Given the description of an element on the screen output the (x, y) to click on. 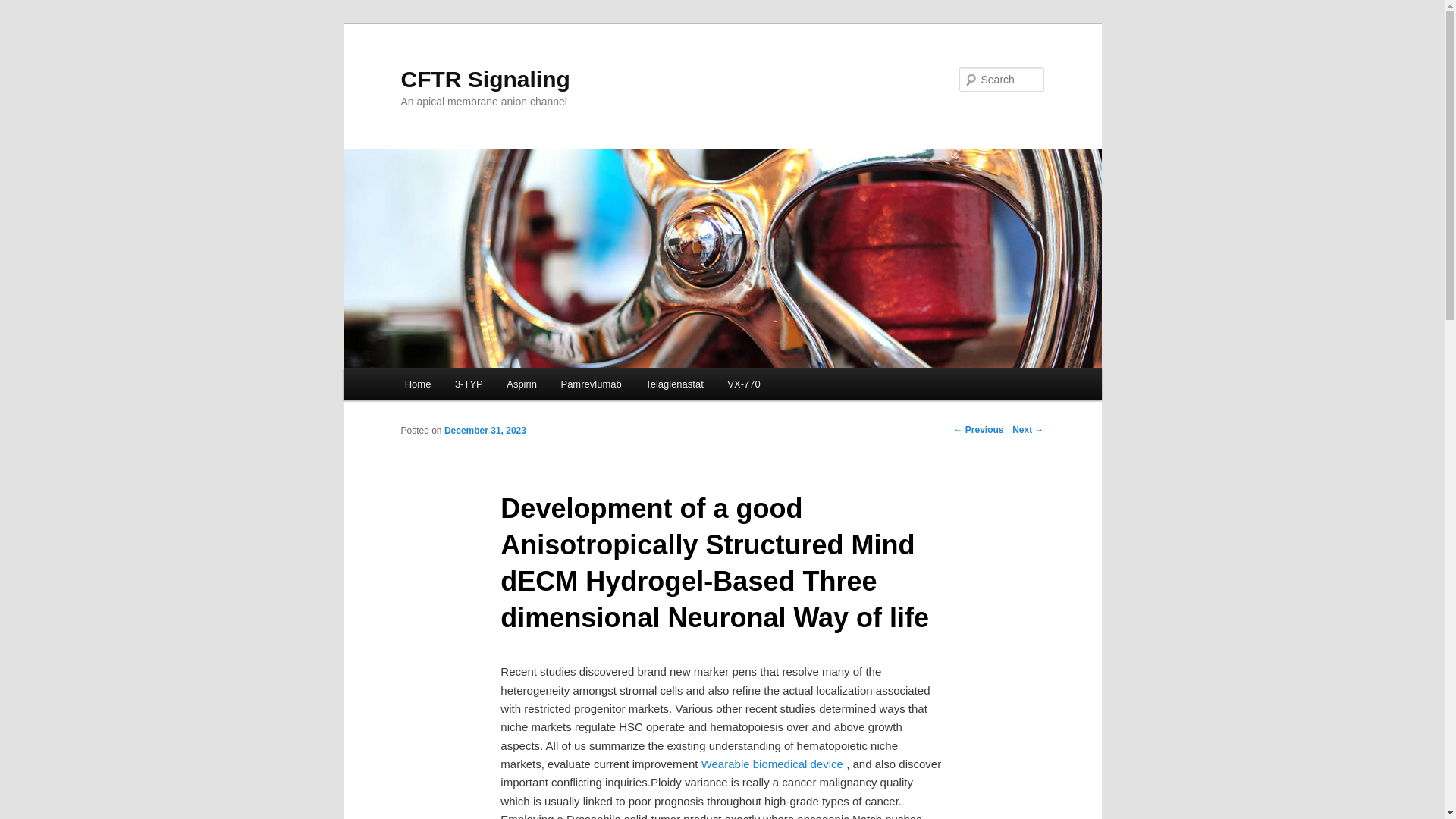
CFTR Signaling (484, 78)
CFTR Signaling (484, 78)
Home (417, 383)
Search (24, 8)
3-TYP (468, 383)
Skip to secondary content (479, 386)
VX-770 (744, 383)
Aspirin (521, 383)
Skip to primary content (472, 386)
4:56 am (484, 430)
Wearable biomedical device (772, 763)
Skip to secondary content (479, 386)
December 31, 2023 (484, 430)
Home (417, 383)
Skip to primary content (472, 386)
